Given the description of an element on the screen output the (x, y) to click on. 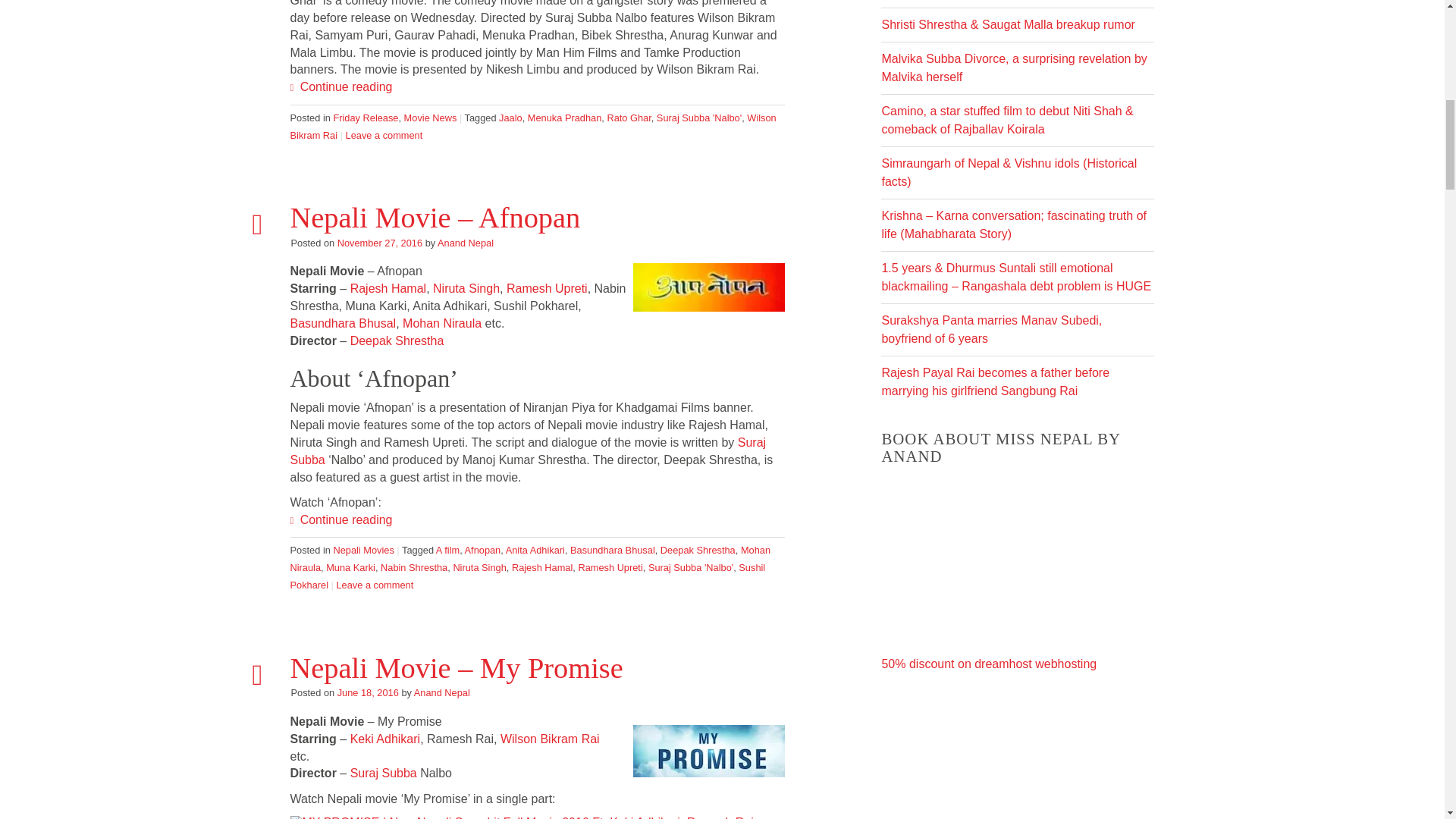
Anita Adhikari (534, 550)
Basundhara Bhusal (342, 323)
A film (447, 550)
Afnopan (482, 550)
Menuka Pradhan (564, 117)
Deepak Shrestha (698, 550)
Deepak Shrestha (397, 340)
Friday Release (365, 117)
Rato Ghar (628, 117)
Mohan Niraula (529, 558)
